Given the description of an element on the screen output the (x, y) to click on. 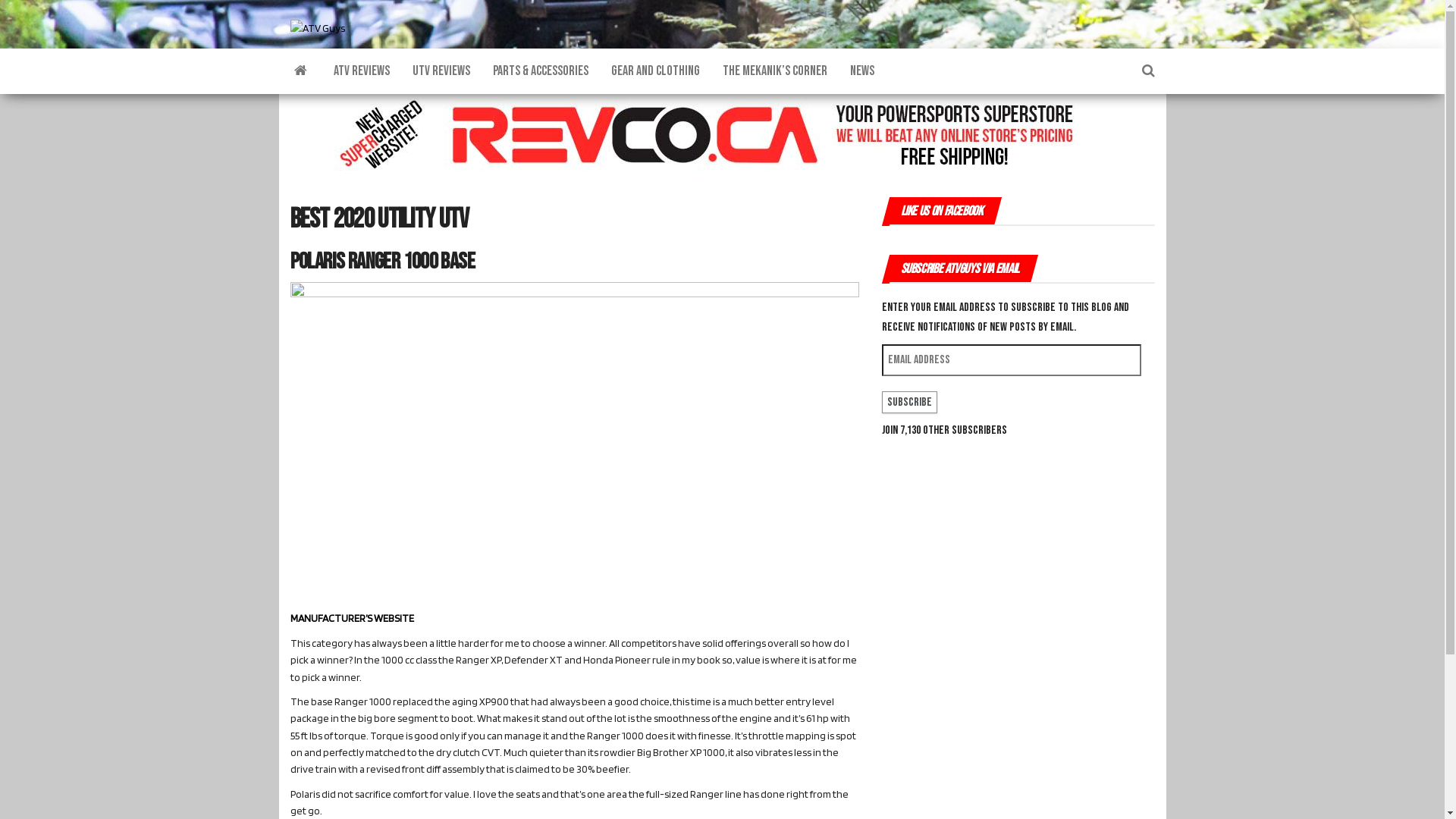
ATV Guys Element type: text (360, 52)
Gear and Clothing Element type: text (654, 71)
Subscribe Element type: text (908, 402)
ATV Reviews Element type: text (360, 71)
ATV Guys Element type: hover (300, 71)
UTV Reviews Element type: text (440, 71)
NEWS Element type: text (861, 71)
Parts & Accessories Element type: text (539, 71)
